Given the description of an element on the screen output the (x, y) to click on. 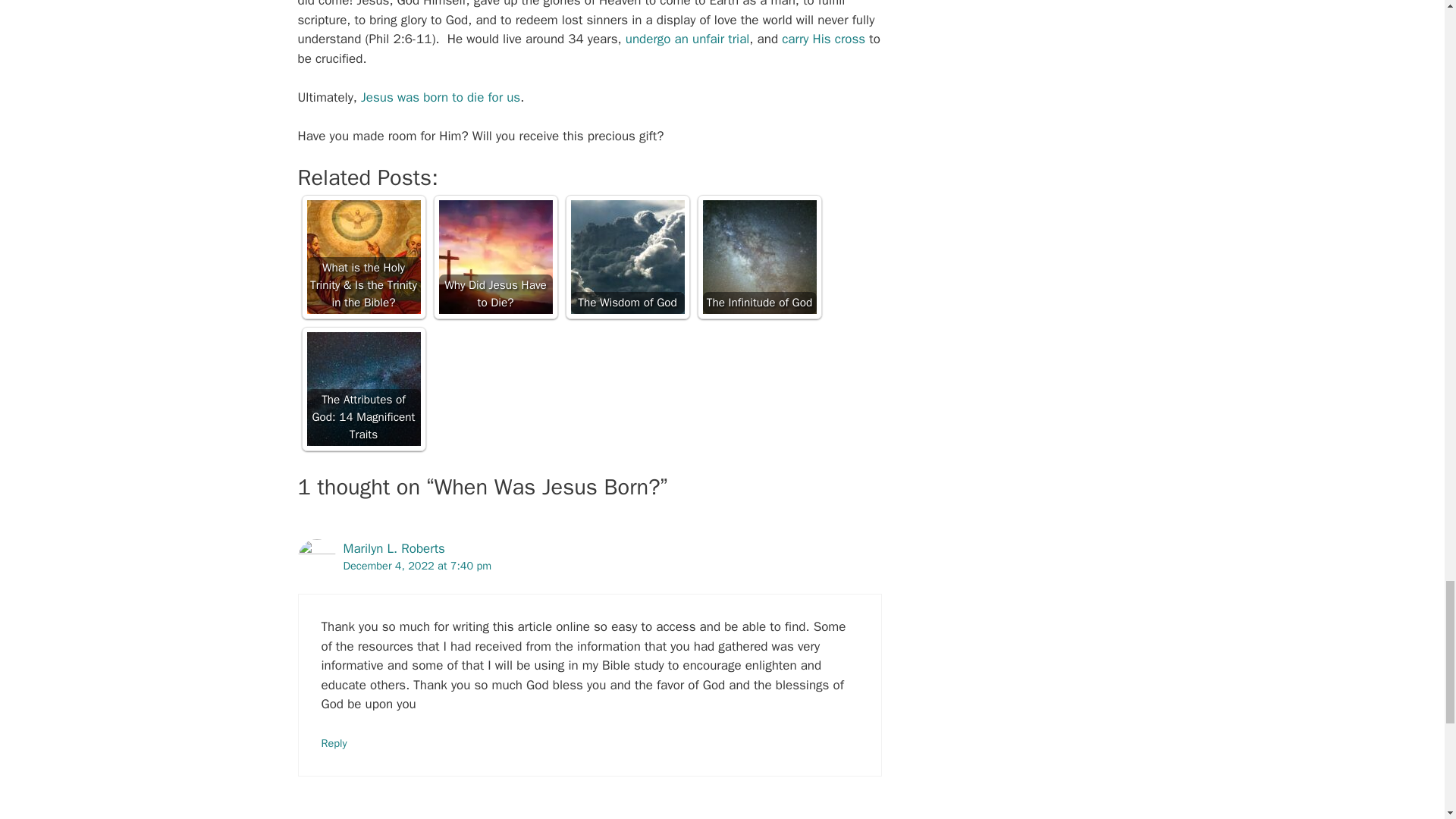
carry His cross (822, 38)
The Wisdom of God (627, 256)
The Attributes of God: 14 Magnificent Traits (362, 388)
Jesus was born to die for us (440, 97)
The Infinitude of God (758, 256)
Why Did Jesus Have to Die? (494, 256)
undergo an unfair trial (687, 38)
